Given the description of an element on the screen output the (x, y) to click on. 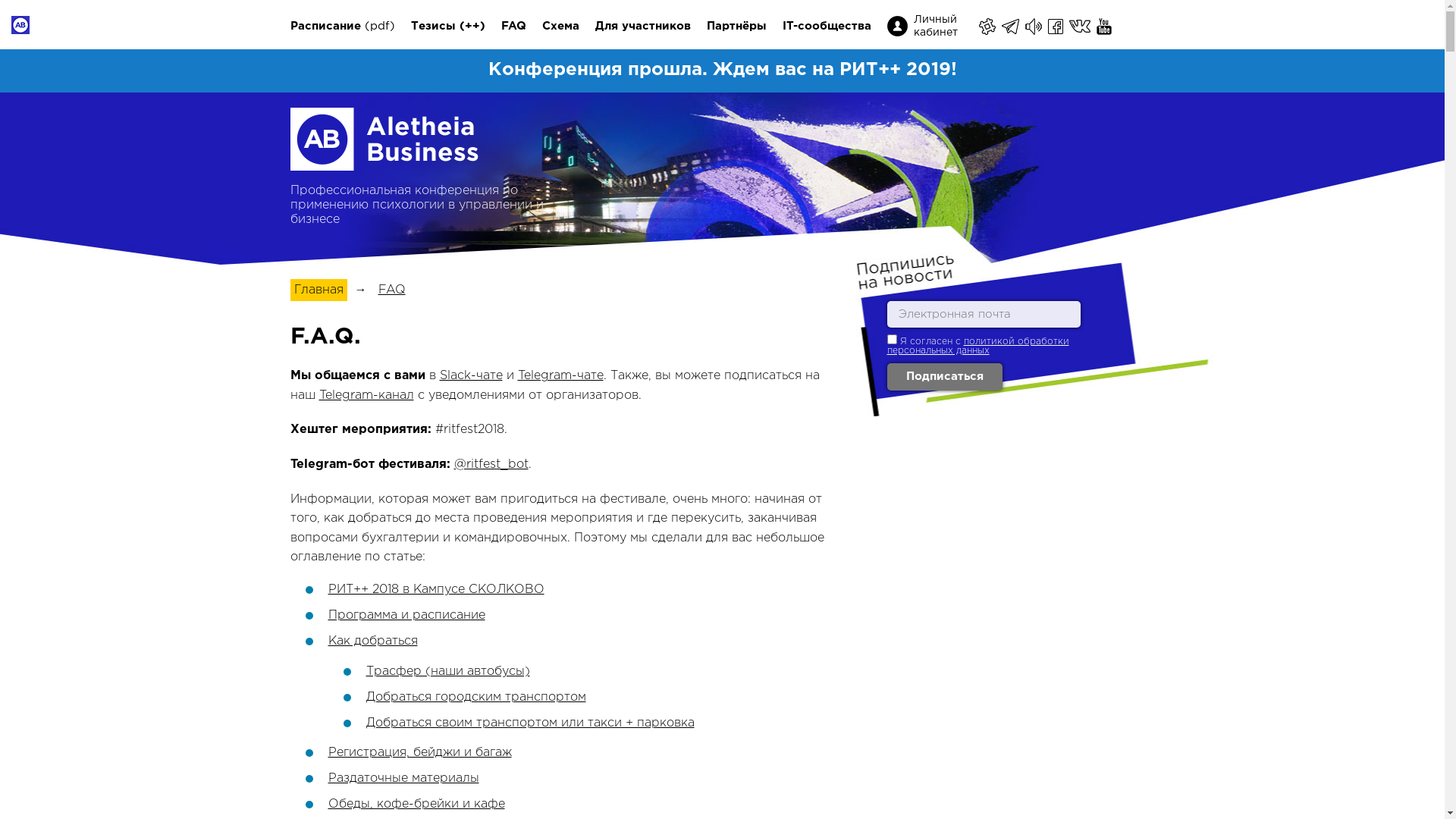
Slack Element type: hover (987, 26)
(++) Element type: text (472, 26)
FAQ Element type: text (512, 26)
Telegram Channel Element type: hover (1034, 26)
(pdf) Element type: text (379, 26)
VK Element type: hover (1080, 26)
FAQ Element type: text (390, 289)
Twitter Element type: hover (1118, 26)
@ritfest_bot Element type: text (490, 464)
Facebook Element type: hover (1056, 26)
YouTube Element type: hover (1104, 26)
Telegram Chat Element type: hover (1010, 26)
